Given the description of an element on the screen output the (x, y) to click on. 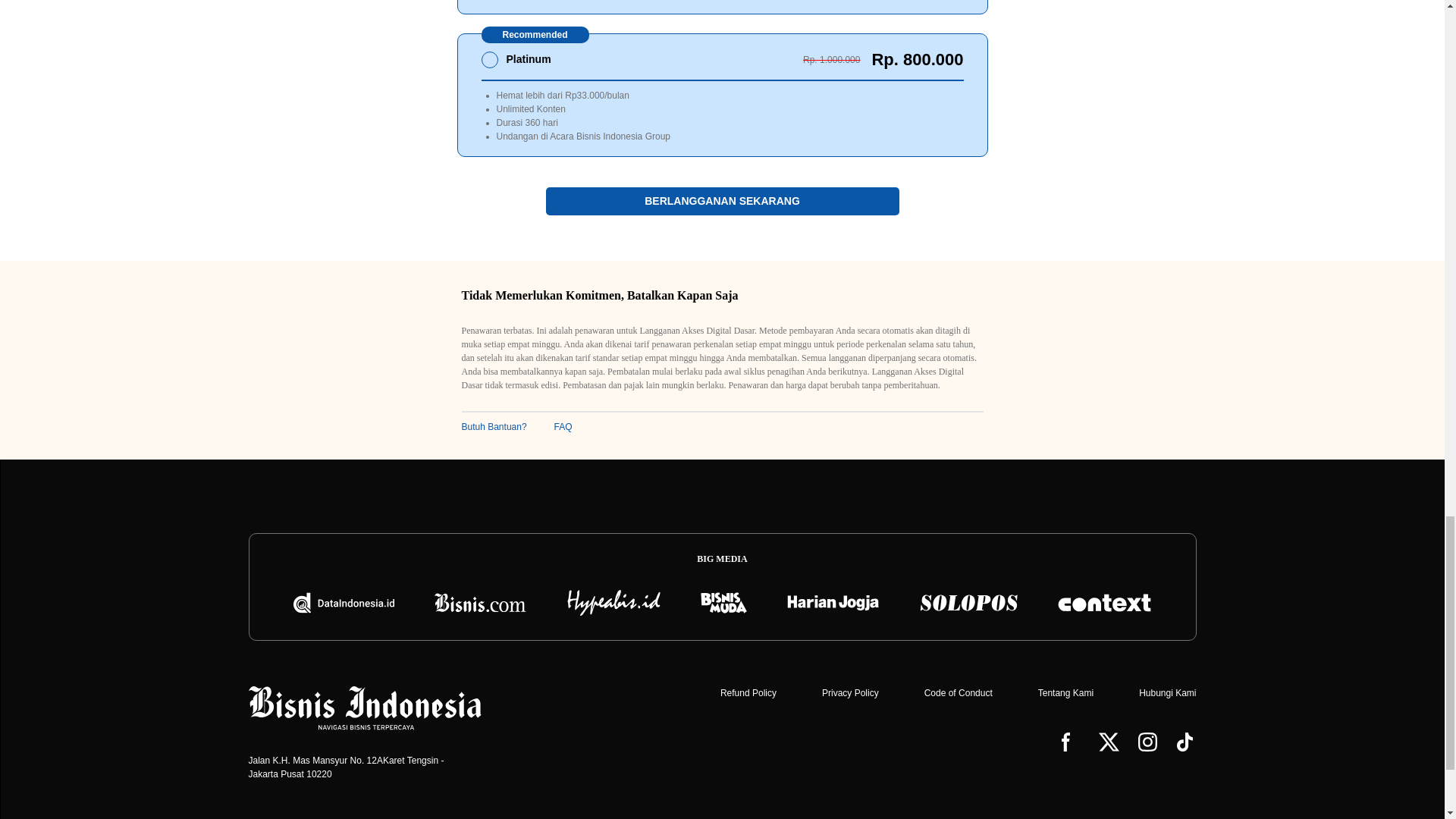
FAQ (563, 426)
Butuh Bantuan? (493, 426)
